Given the description of an element on the screen output the (x, y) to click on. 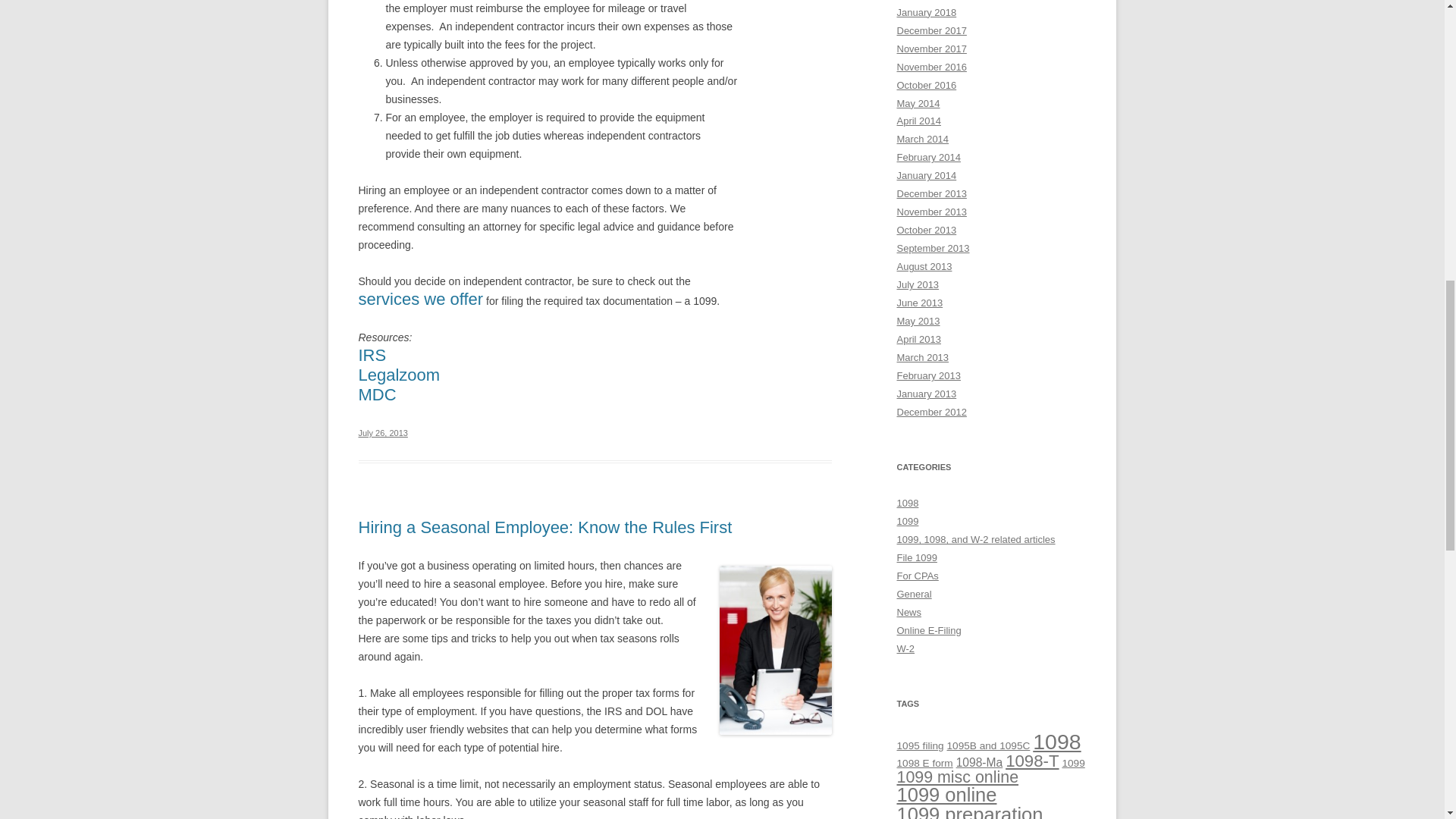
Legalzoom (398, 374)
July 26, 2013 (382, 432)
services we offer (420, 298)
MDC (377, 394)
Permalink to Employee vs. Independent Contractor? (382, 432)
IRS (371, 354)
Hiring a Seasonal Employee: Know the Rules First (545, 527)
